Given the description of an element on the screen output the (x, y) to click on. 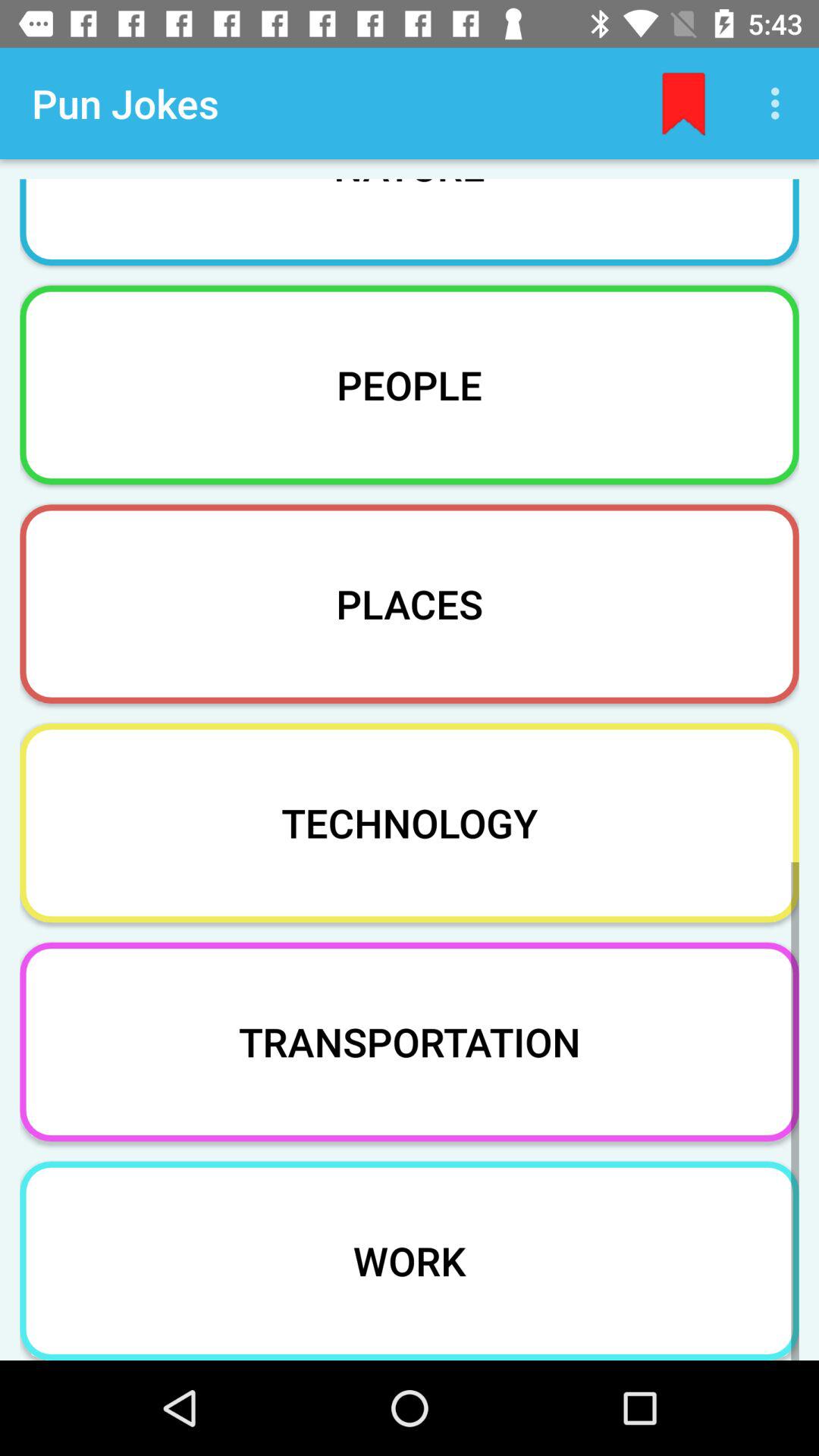
press the transportation (409, 1041)
